Given the description of an element on the screen output the (x, y) to click on. 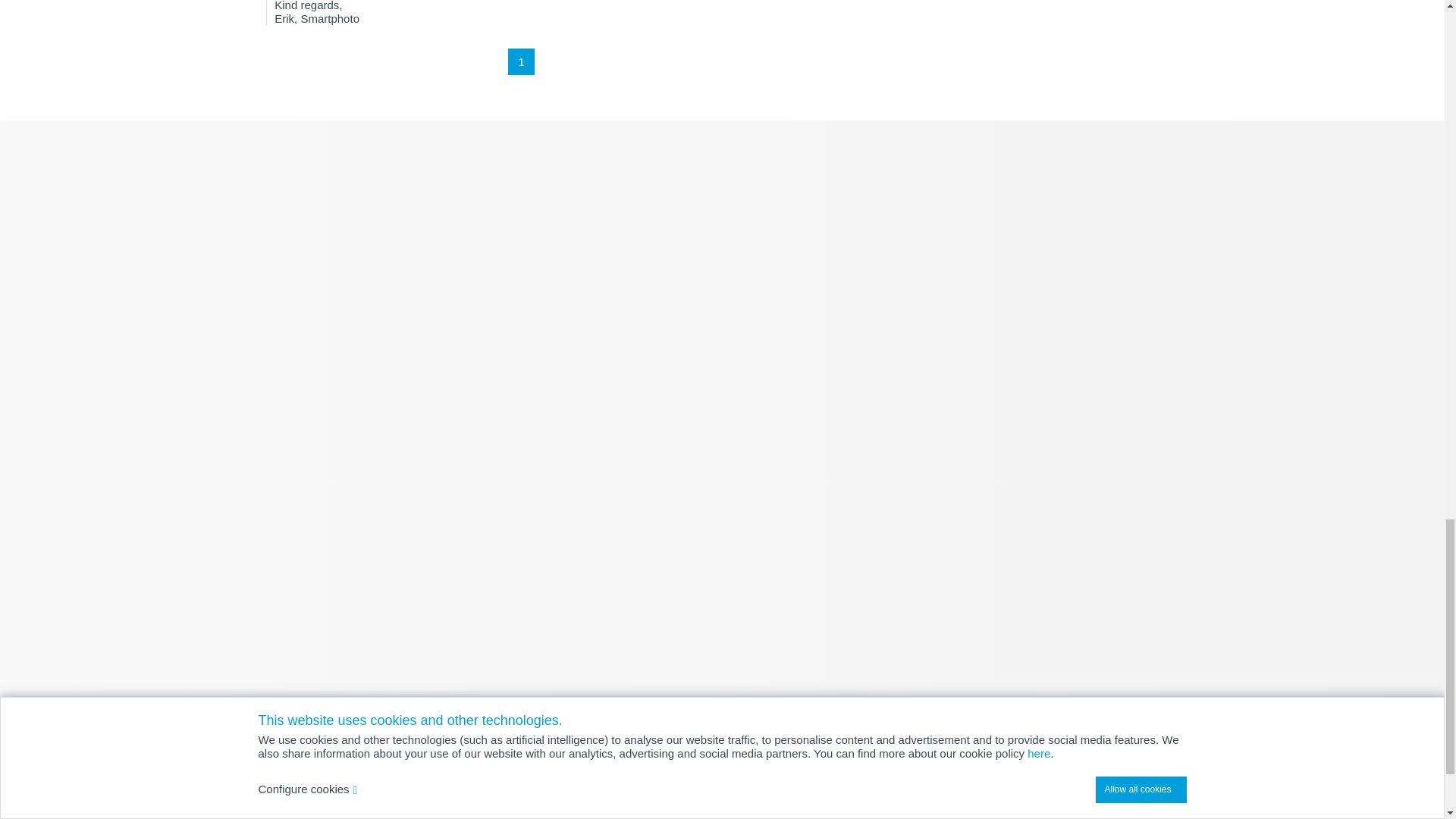
1 (521, 61)
